Given the description of an element on the screen output the (x, y) to click on. 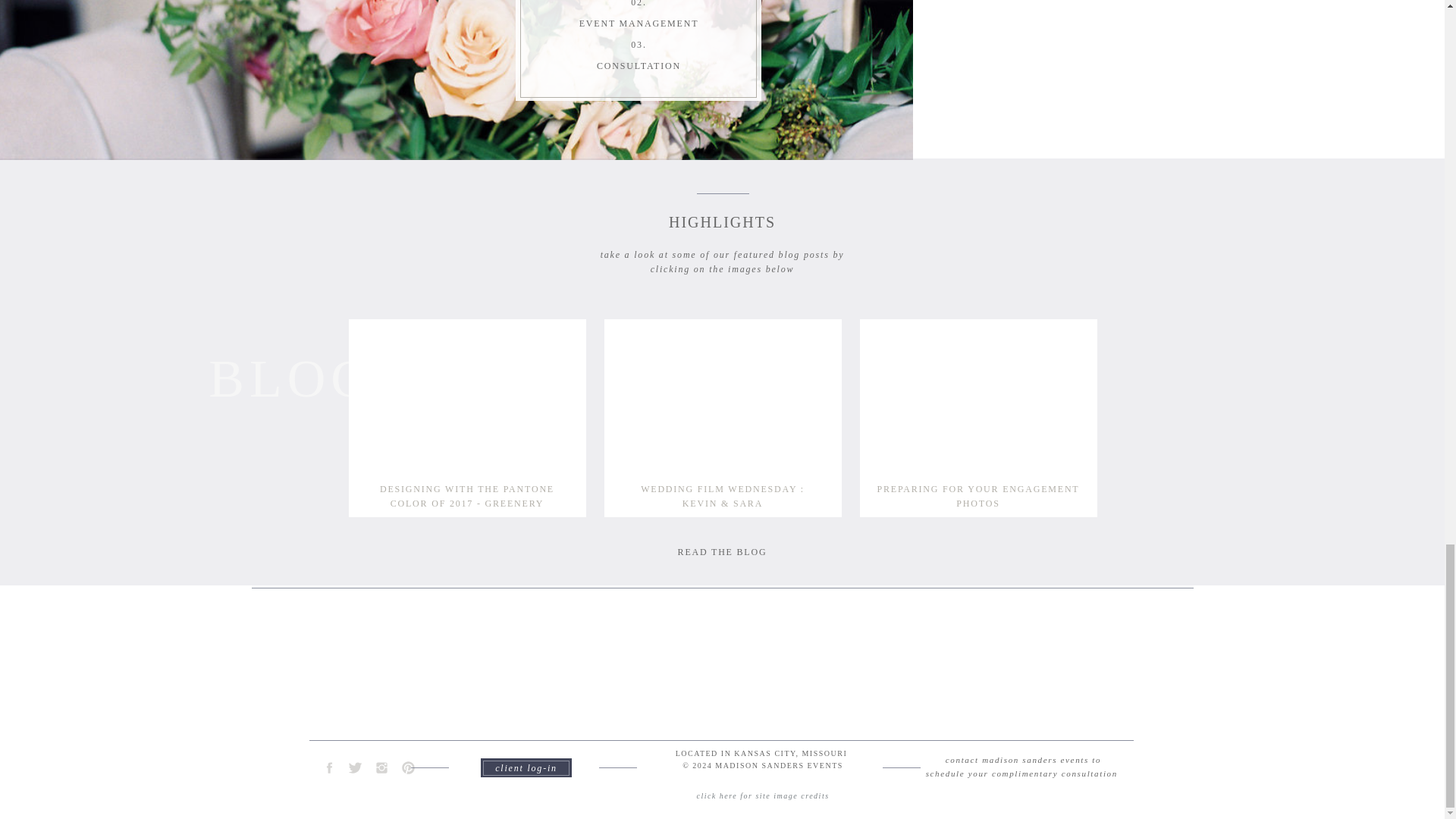
CONSULTATION (638, 65)
02. (638, 4)
BLOG (291, 372)
READ THE BLOG (722, 552)
03. (638, 44)
EVENT MANAGEMENT (638, 23)
PREPARING FOR YOUR ENGAGEMENT PHOTOS (978, 488)
DESIGNING WITH THE PANTONE COLOR OF 2017 - GREENERY (467, 488)
